Given the description of an element on the screen output the (x, y) to click on. 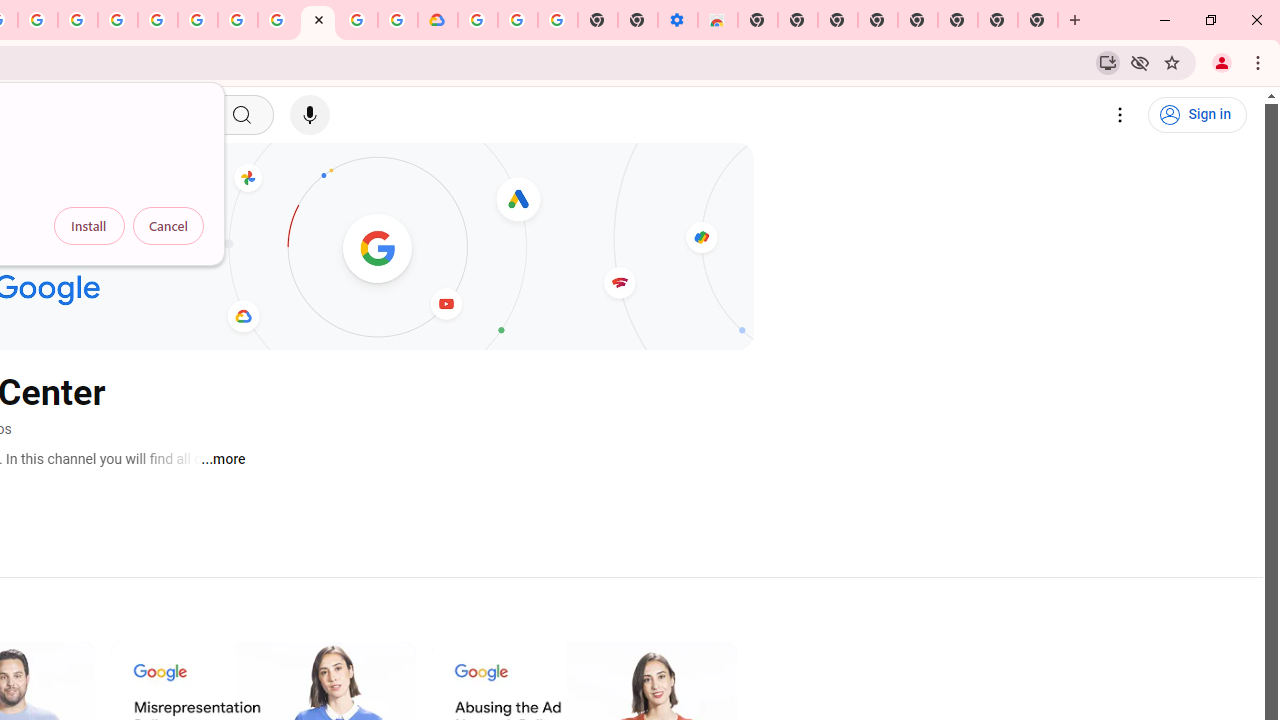
Google Transparency Center - YouTube (317, 20)
